Given the description of an element on the screen output the (x, y) to click on. 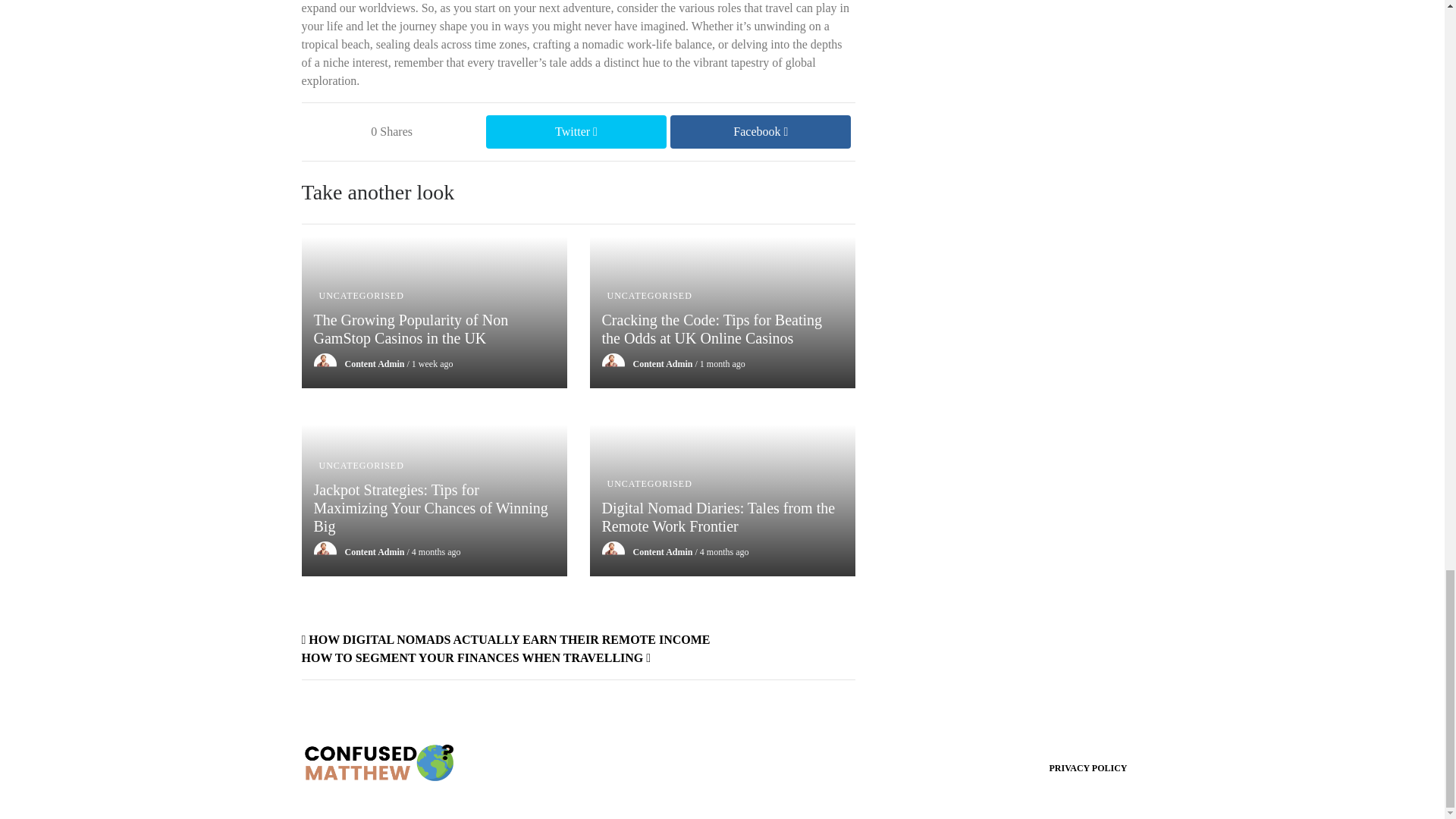
The Growing Popularity of Non GamStop Casinos in the UK (434, 340)
HOW TO SEGMENT YOUR FINANCES WHEN TRAVELLING  (475, 657)
PRIVACY POLICY (1087, 767)
UNCATEGORISED (360, 465)
Digital Nomad Diaries: Tales from the Remote Work Frontier (722, 527)
UNCATEGORISED (649, 295)
